Given the description of an element on the screen output the (x, y) to click on. 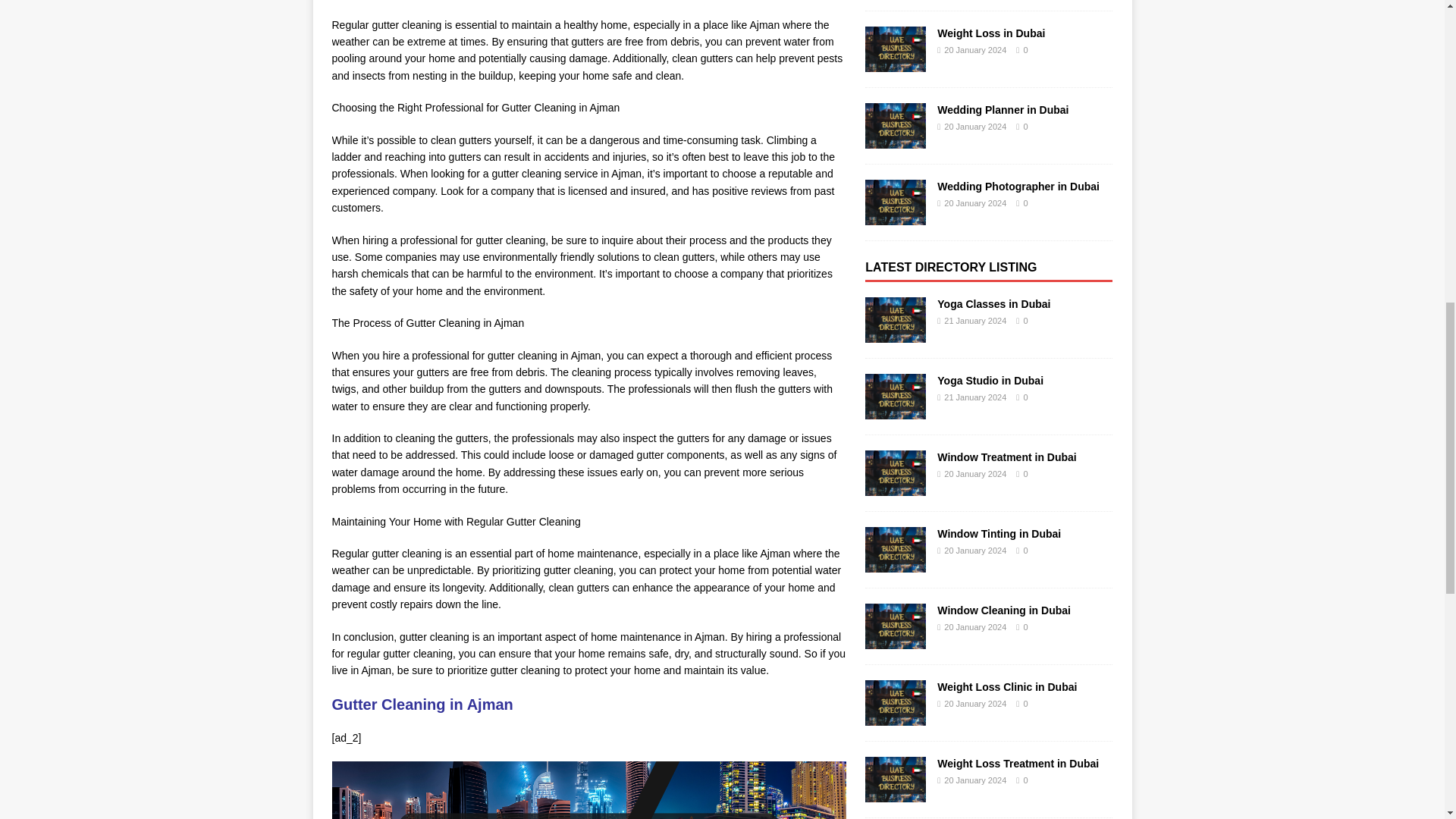
Weight Loss in Dubai (895, 63)
